Given the description of an element on the screen output the (x, y) to click on. 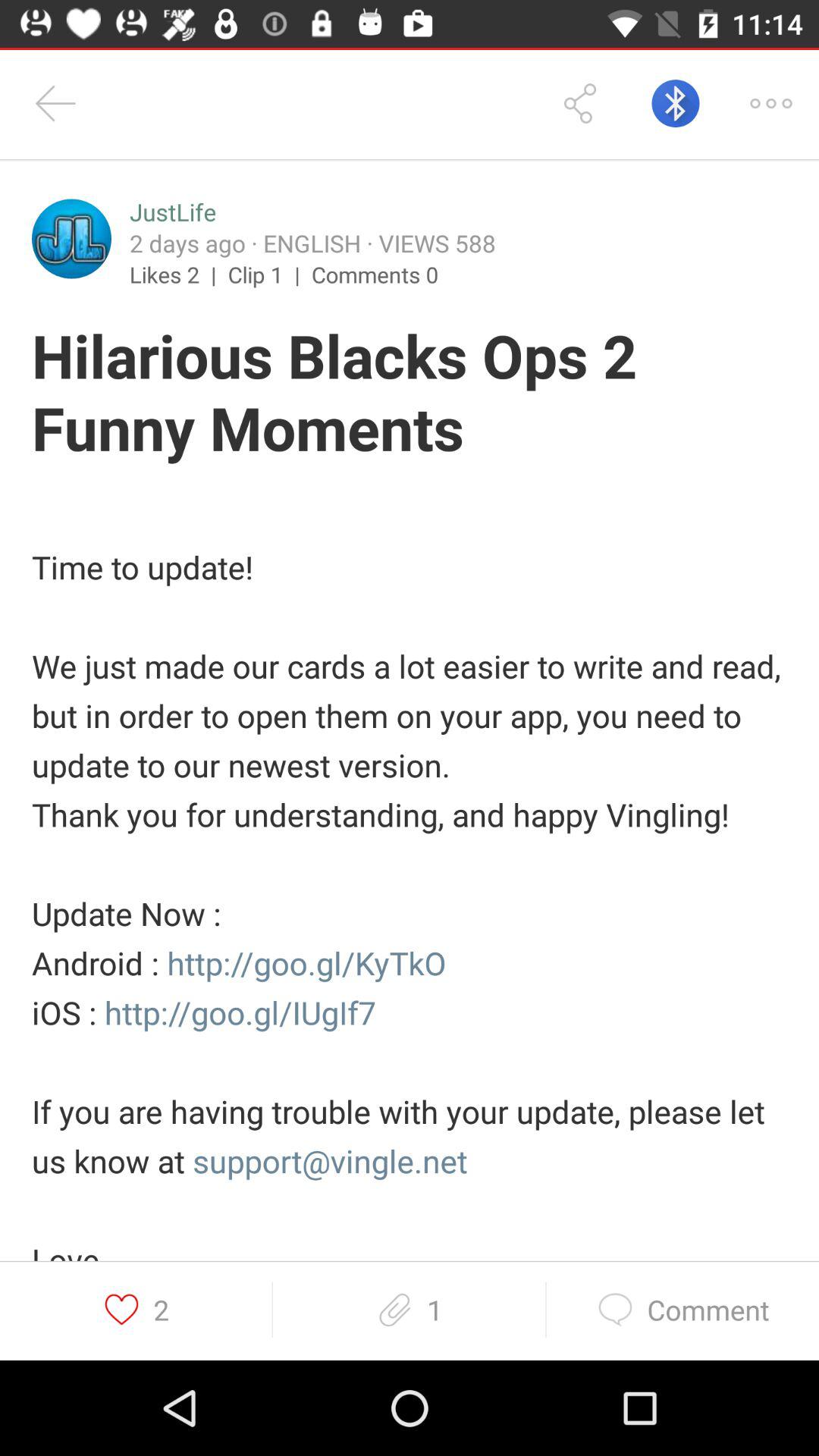
symbol of profile (71, 238)
